Given the description of an element on the screen output the (x, y) to click on. 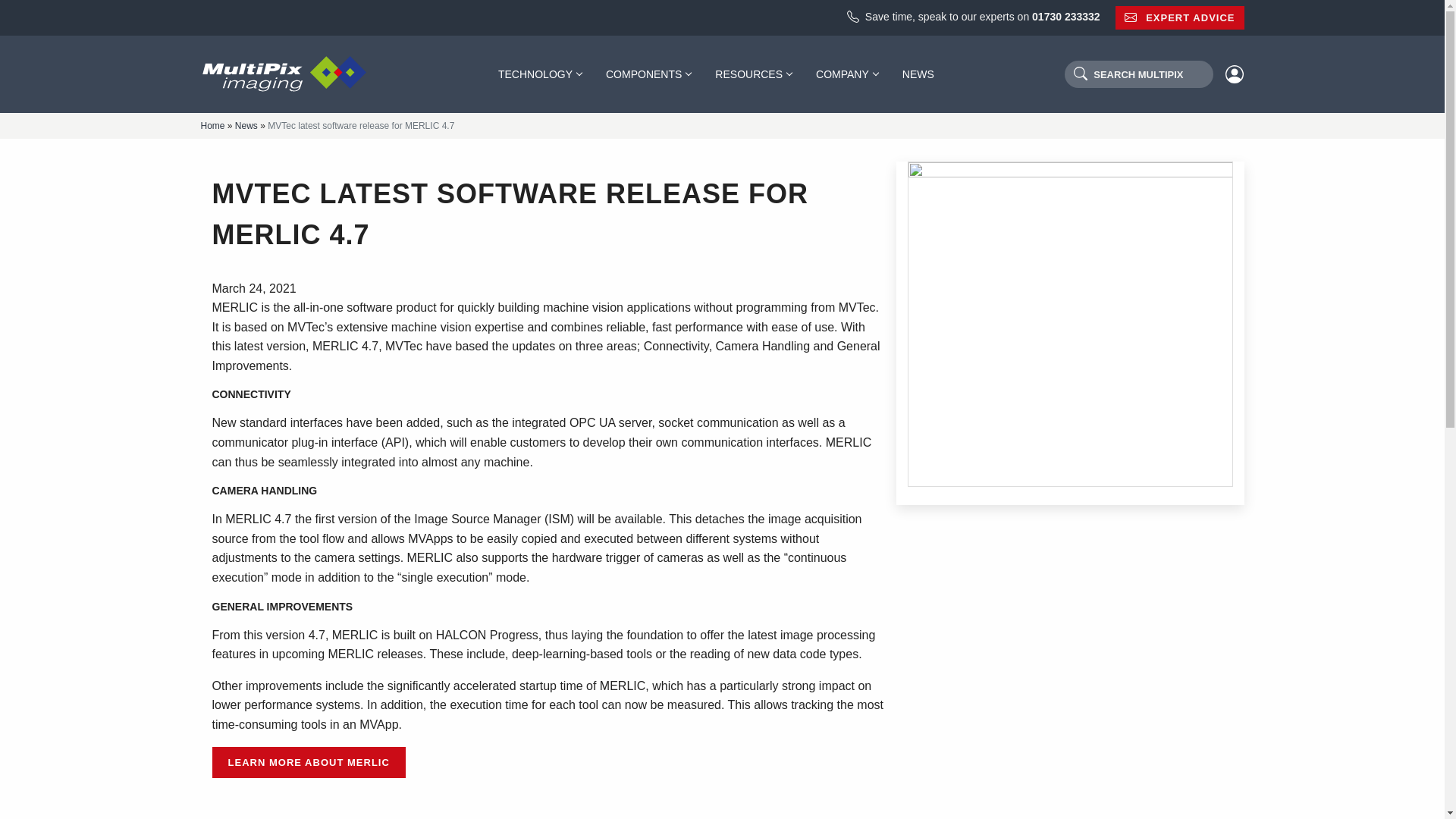
RESOURCES (753, 74)
COMPANY (846, 74)
TECHNOLOGY (540, 74)
COMPONENTS (648, 74)
EXPERT ADVICE (1179, 17)
01730 233332 (1066, 16)
